Given the description of an element on the screen output the (x, y) to click on. 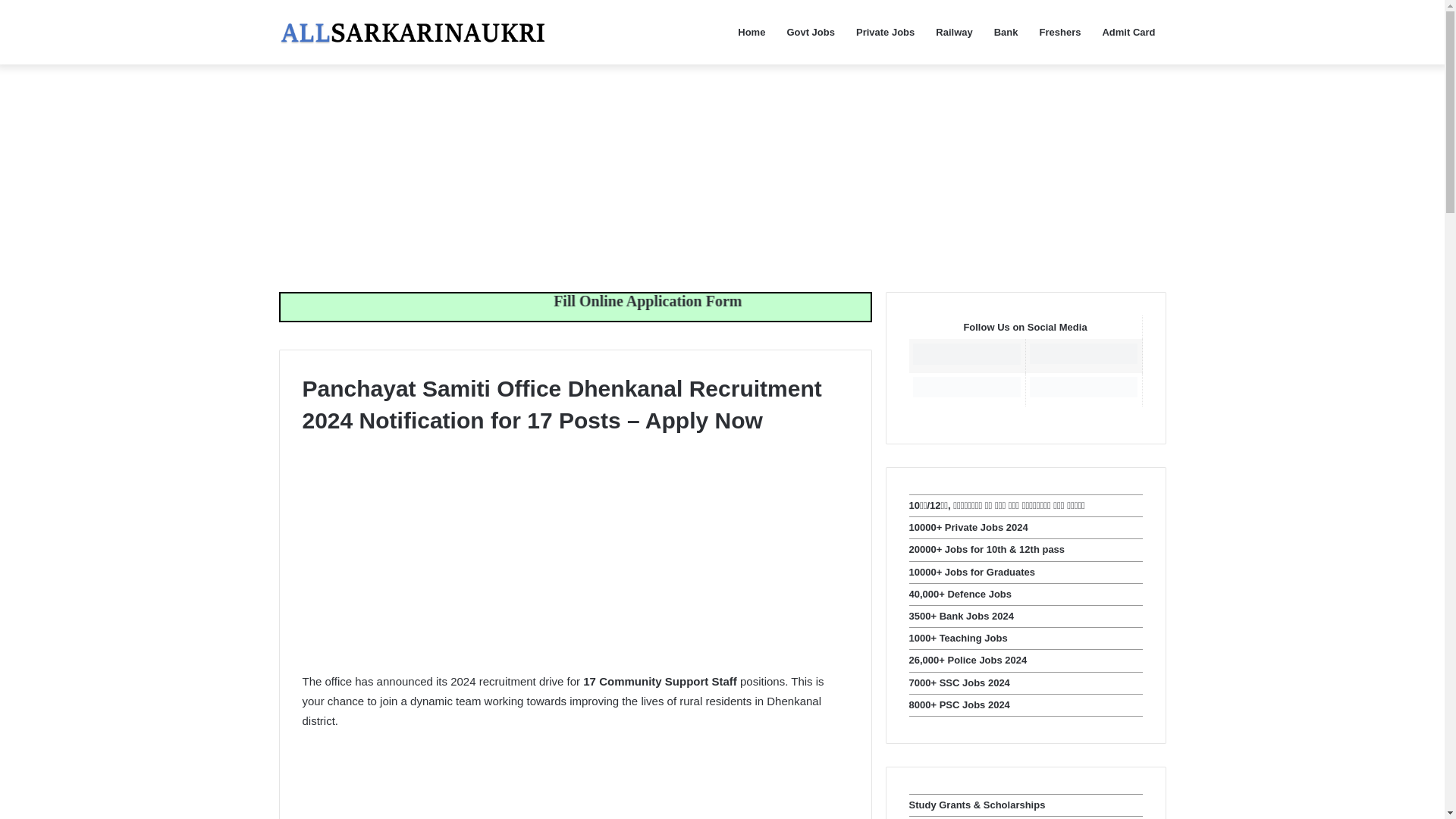
All Sarkari Naukri (413, 32)
Govt Jobs (810, 32)
Private Jobs (884, 32)
Fill Online Application Form (765, 300)
Railway (953, 32)
Freshers (1060, 32)
Admit Card (1128, 32)
